Given the description of an element on the screen output the (x, y) to click on. 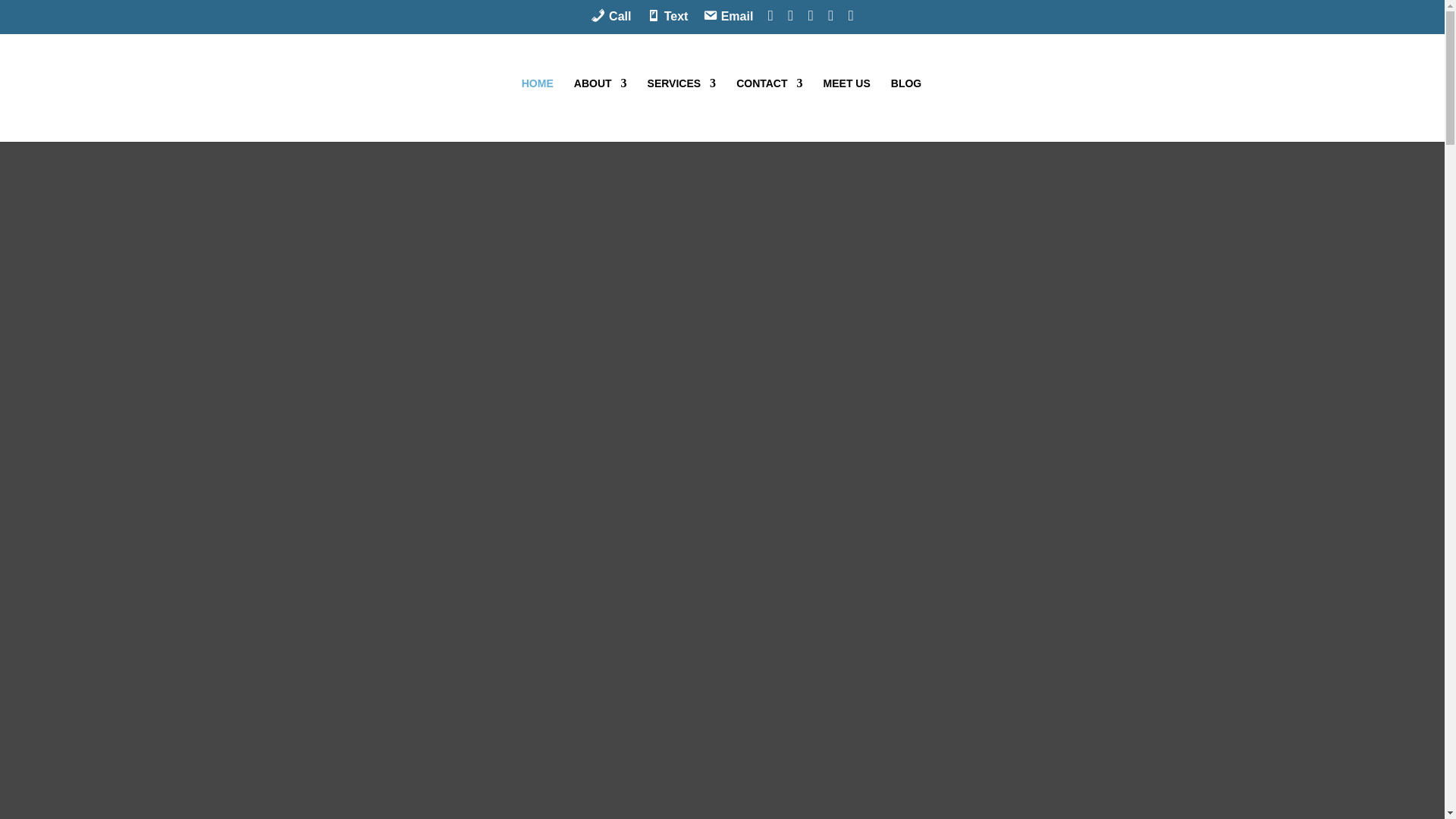
Text (667, 21)
Call (610, 21)
SERVICES (681, 109)
Email (727, 21)
CONTACT (769, 109)
